Given the description of an element on the screen output the (x, y) to click on. 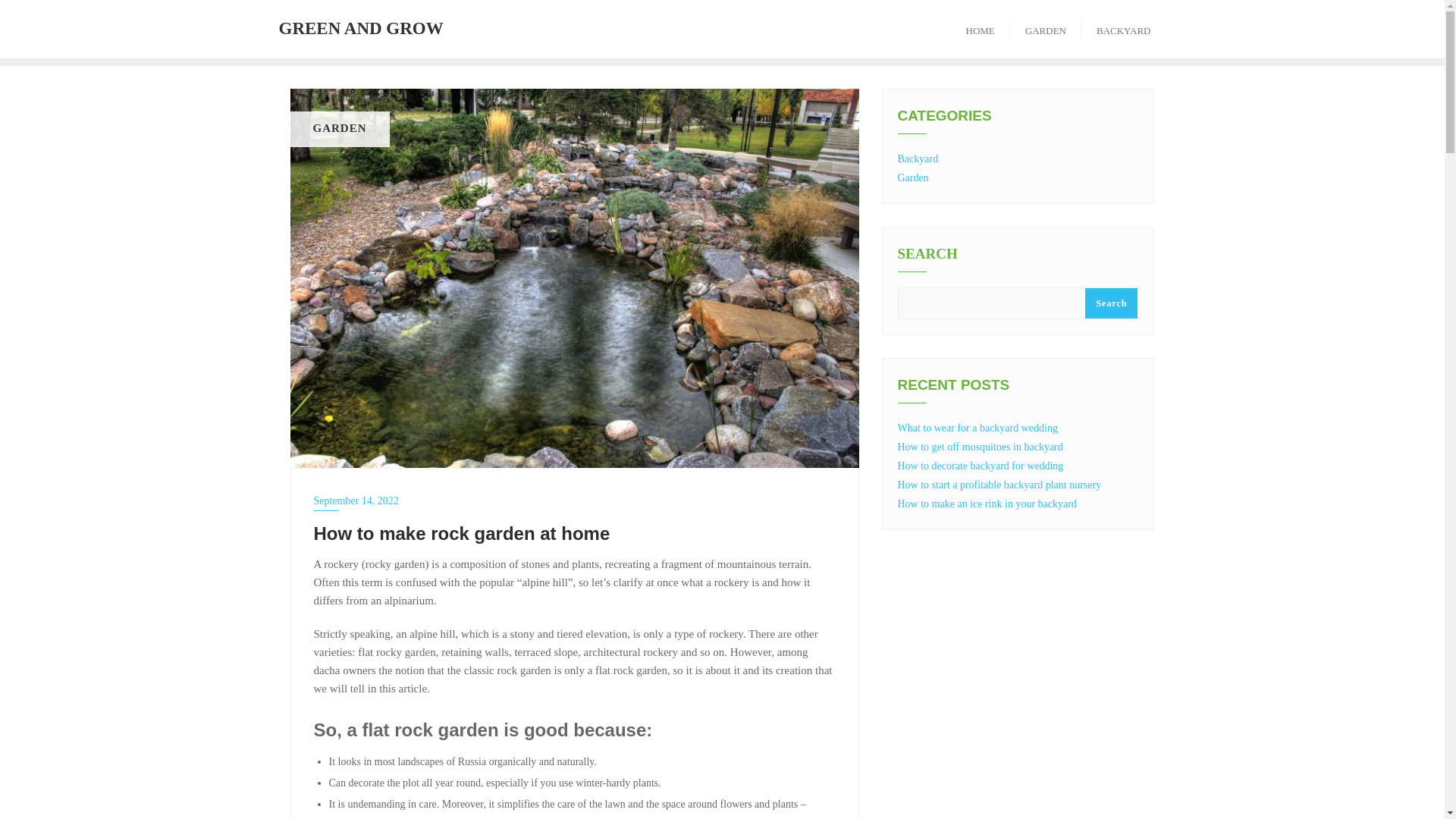
GARDEN (1045, 29)
How to decorate backyard for wedding (981, 465)
BACKYARD (1123, 29)
September 14, 2022 (574, 500)
How to get off mosquitoes in backyard (980, 446)
How to start a profitable backyard plant nursery (1000, 484)
HOME (980, 29)
How to make an ice rink in your backyard (987, 503)
GREEN AND GROW (361, 28)
Search (1110, 303)
Backyard (918, 158)
What to wear for a backyard wedding (978, 428)
Garden (913, 177)
